Given the description of an element on the screen output the (x, y) to click on. 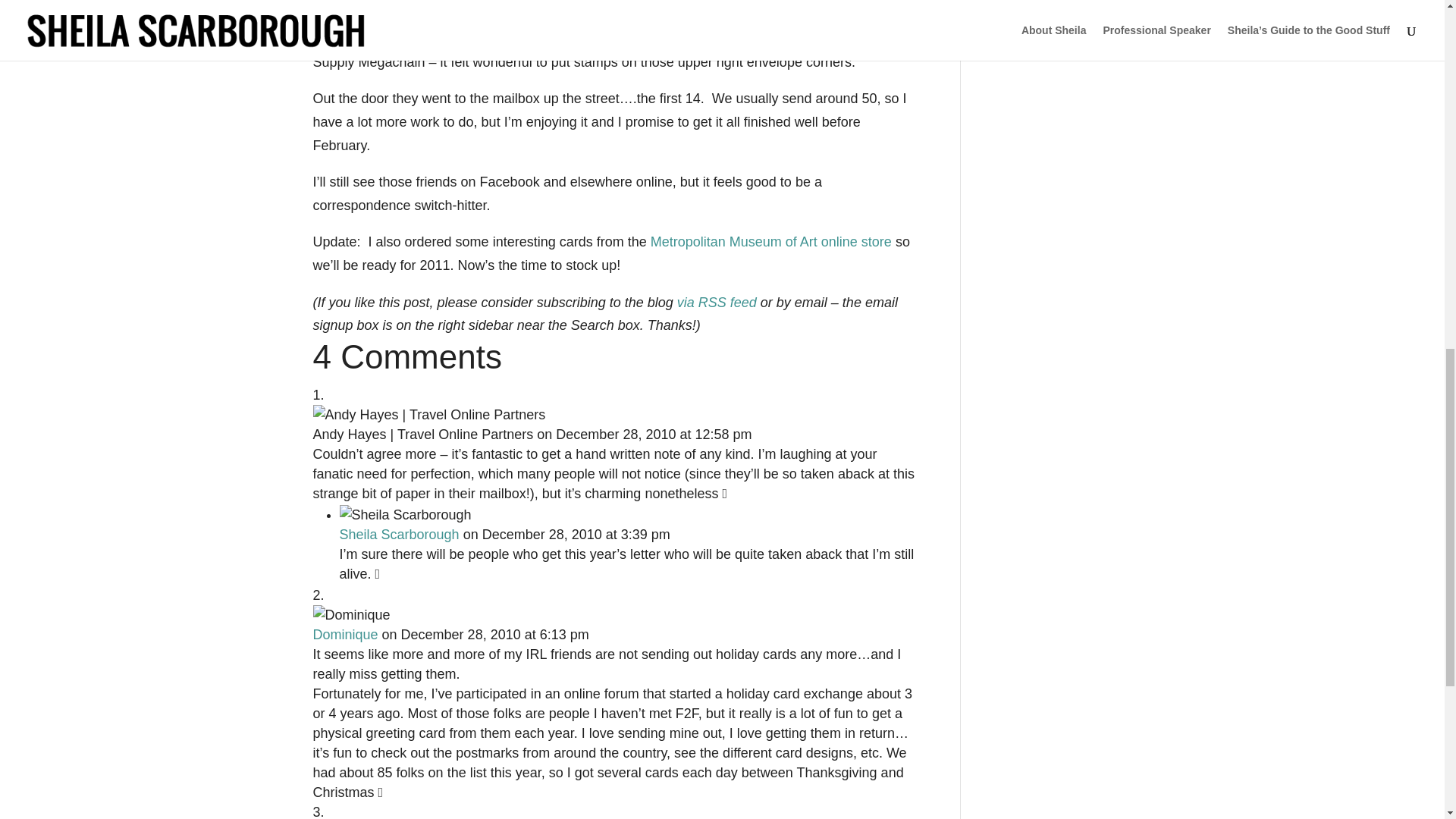
Holiday cards at the Met. (770, 241)
Metropolitan Museum of Art online store (770, 241)
Austin photographer Korey Howell (596, 11)
via RSS feed (717, 302)
Feedburner options page. (717, 302)
Sheila Scarborough (399, 534)
About Korey. (596, 11)
Dominique (345, 634)
